Given the description of an element on the screen output the (x, y) to click on. 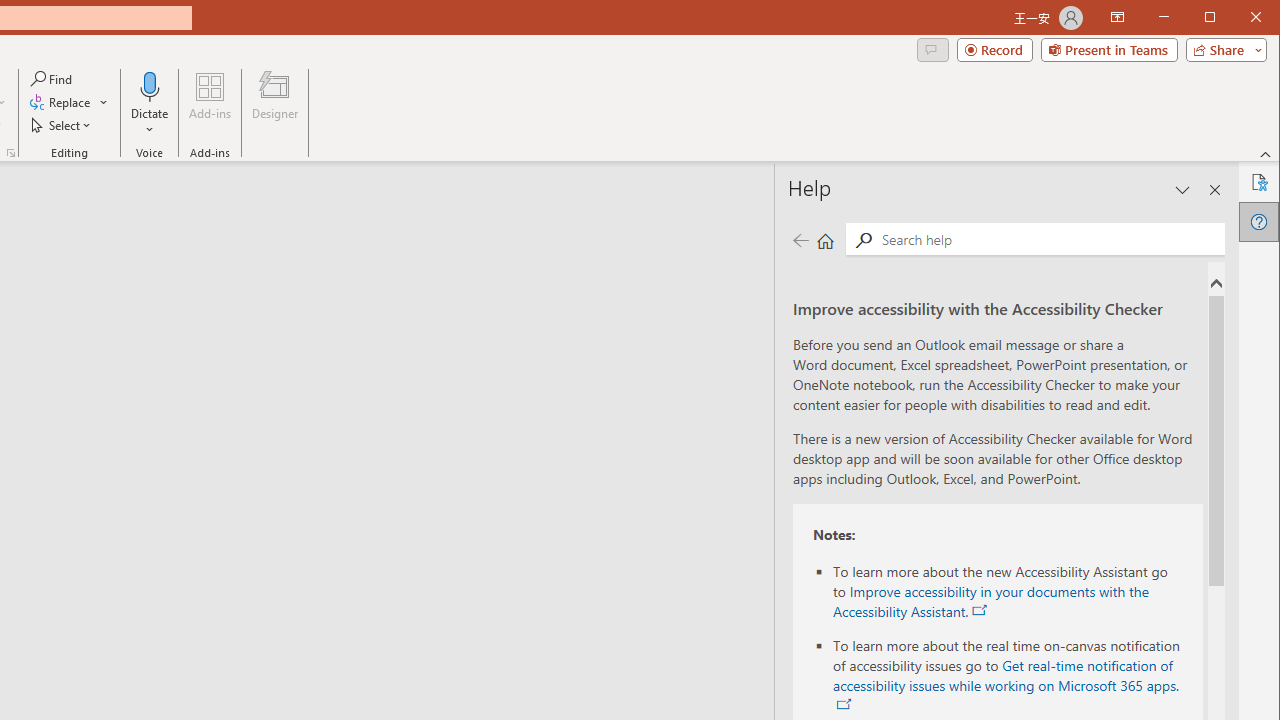
Search (863, 240)
Select (62, 124)
openinnewwindow (844, 704)
Format Object... (10, 152)
Search (1048, 238)
